Given the description of an element on the screen output the (x, y) to click on. 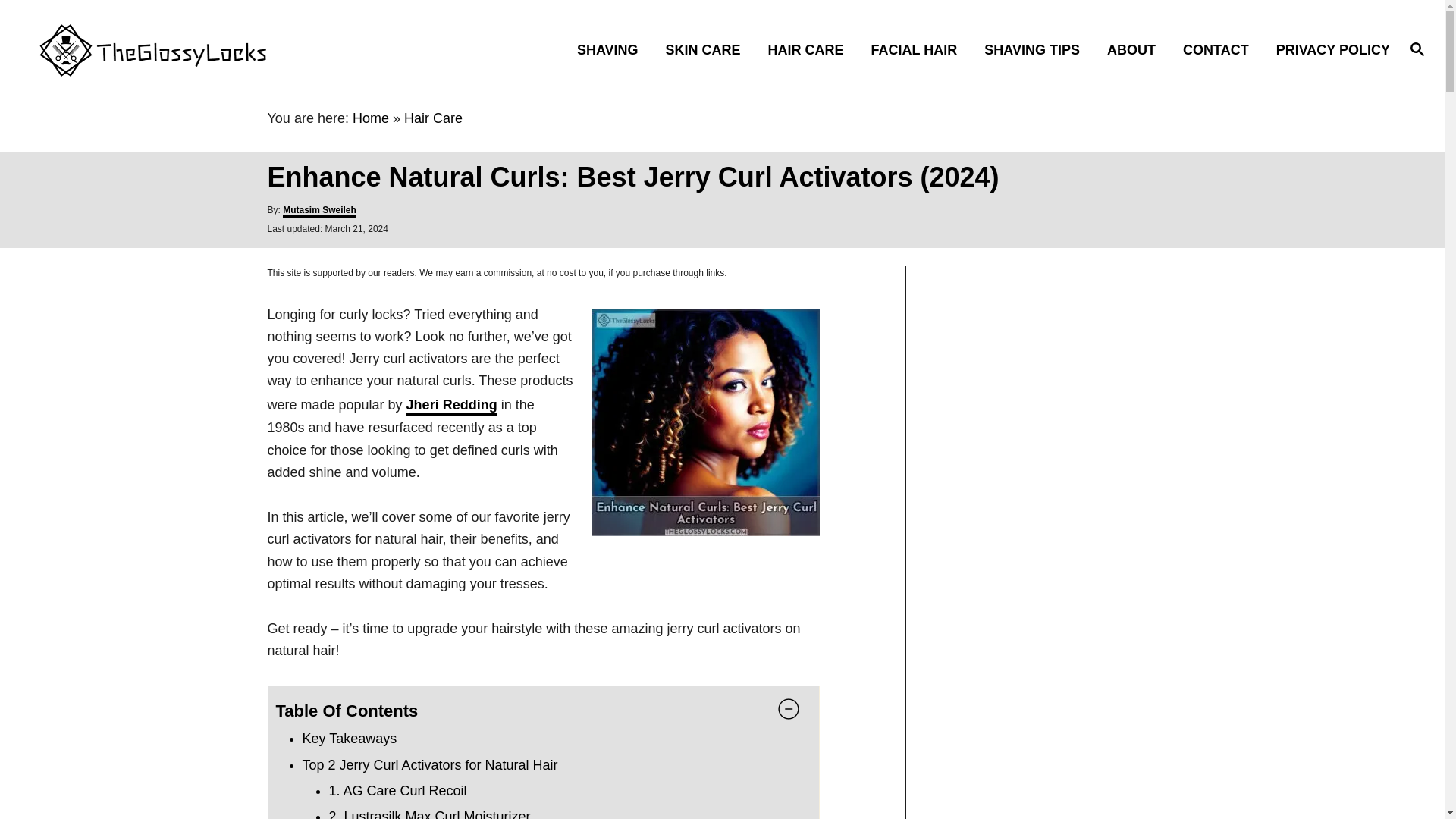
Jheri Redding (451, 406)
Home (370, 118)
Magnifying Glass (1416, 48)
FACIAL HAIR (918, 49)
SHAVING TIPS (1036, 49)
Key Takeaways (348, 738)
HAIR CARE (809, 49)
CONTACT (1219, 49)
SHAVING (611, 49)
1. AG Care Curl Recoil (398, 790)
